Given the description of an element on the screen output the (x, y) to click on. 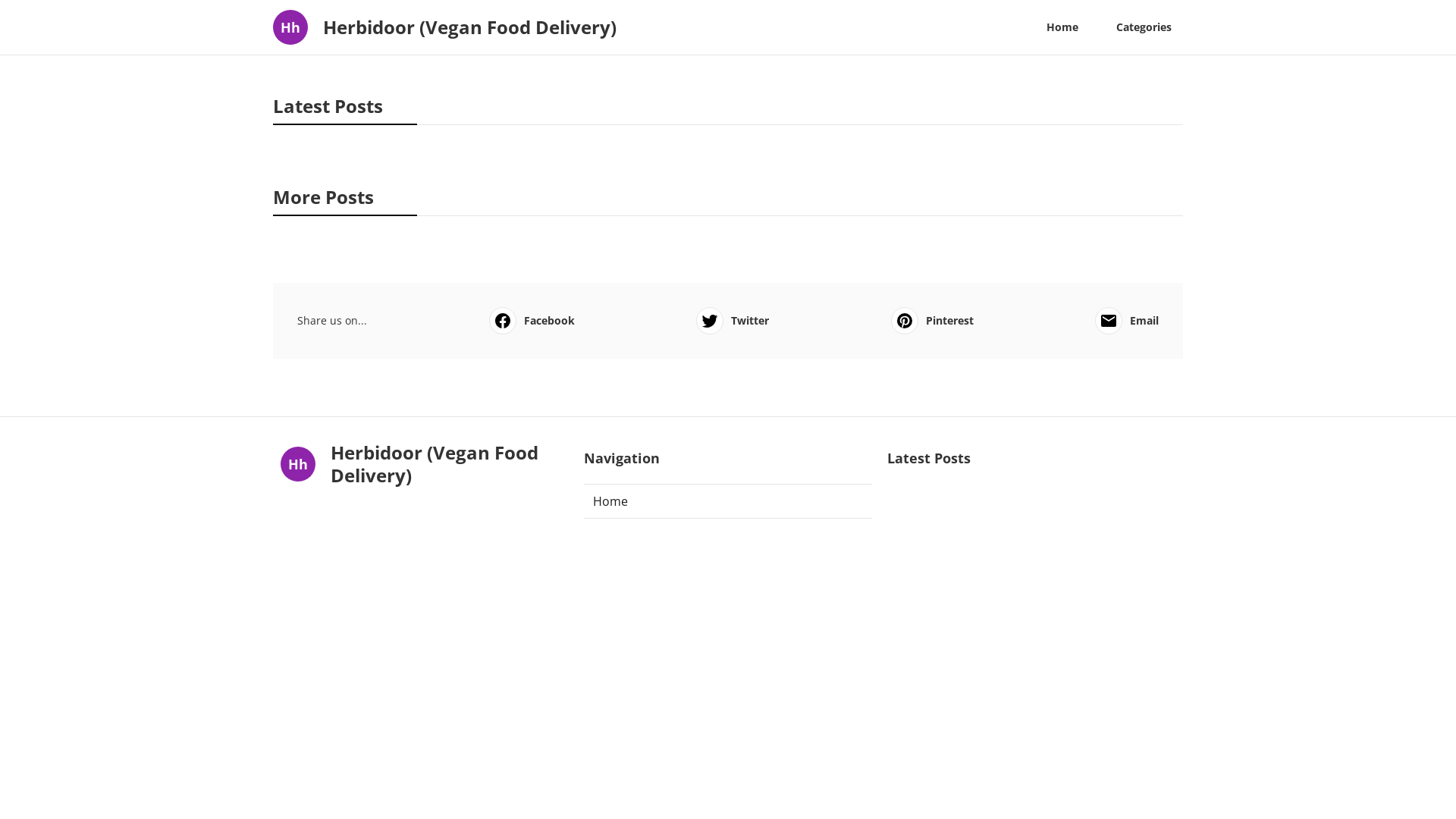
Pinterest Element type: text (931, 320)
Home Element type: text (1062, 26)
Home Element type: text (727, 500)
Twitter Element type: text (732, 320)
Categories Element type: text (1143, 26)
Facebook Element type: text (531, 320)
Email Element type: text (1126, 320)
